Given the description of an element on the screen output the (x, y) to click on. 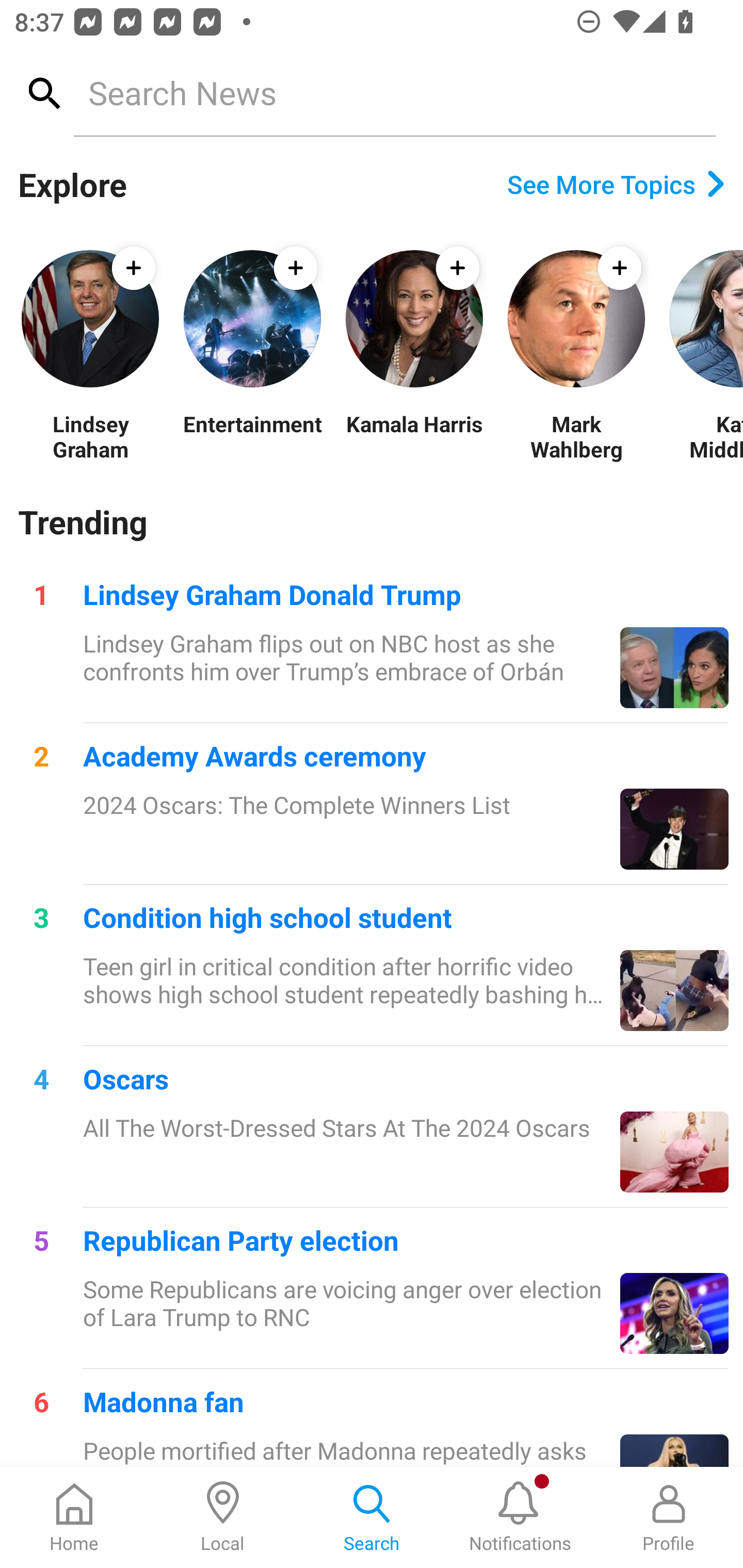
Search News (394, 92)
See More Topics (616, 183)
Lindsey Graham (89, 436)
Entertainment (251, 436)
Kamala Harris (413, 436)
Mark Wahlberg (575, 436)
Home (74, 1517)
Local (222, 1517)
Notifications, New notification Notifications (519, 1517)
Profile (668, 1517)
